Given the description of an element on the screen output the (x, y) to click on. 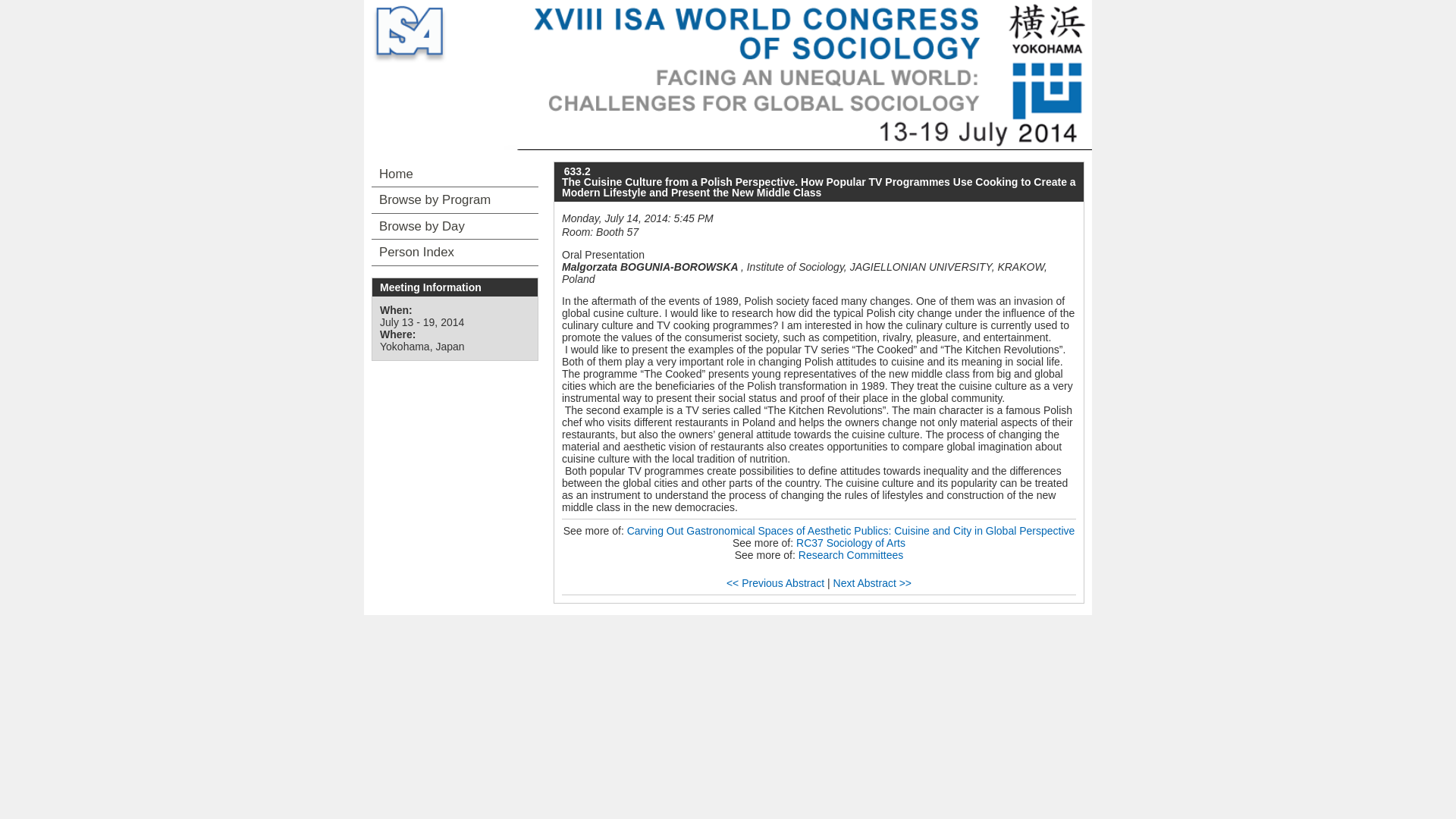
Browse by Program (454, 199)
Home (454, 174)
Browse by Day (454, 226)
Person Index (454, 252)
RC37 Sociology of Arts (850, 542)
Research Committees (850, 554)
